Given the description of an element on the screen output the (x, y) to click on. 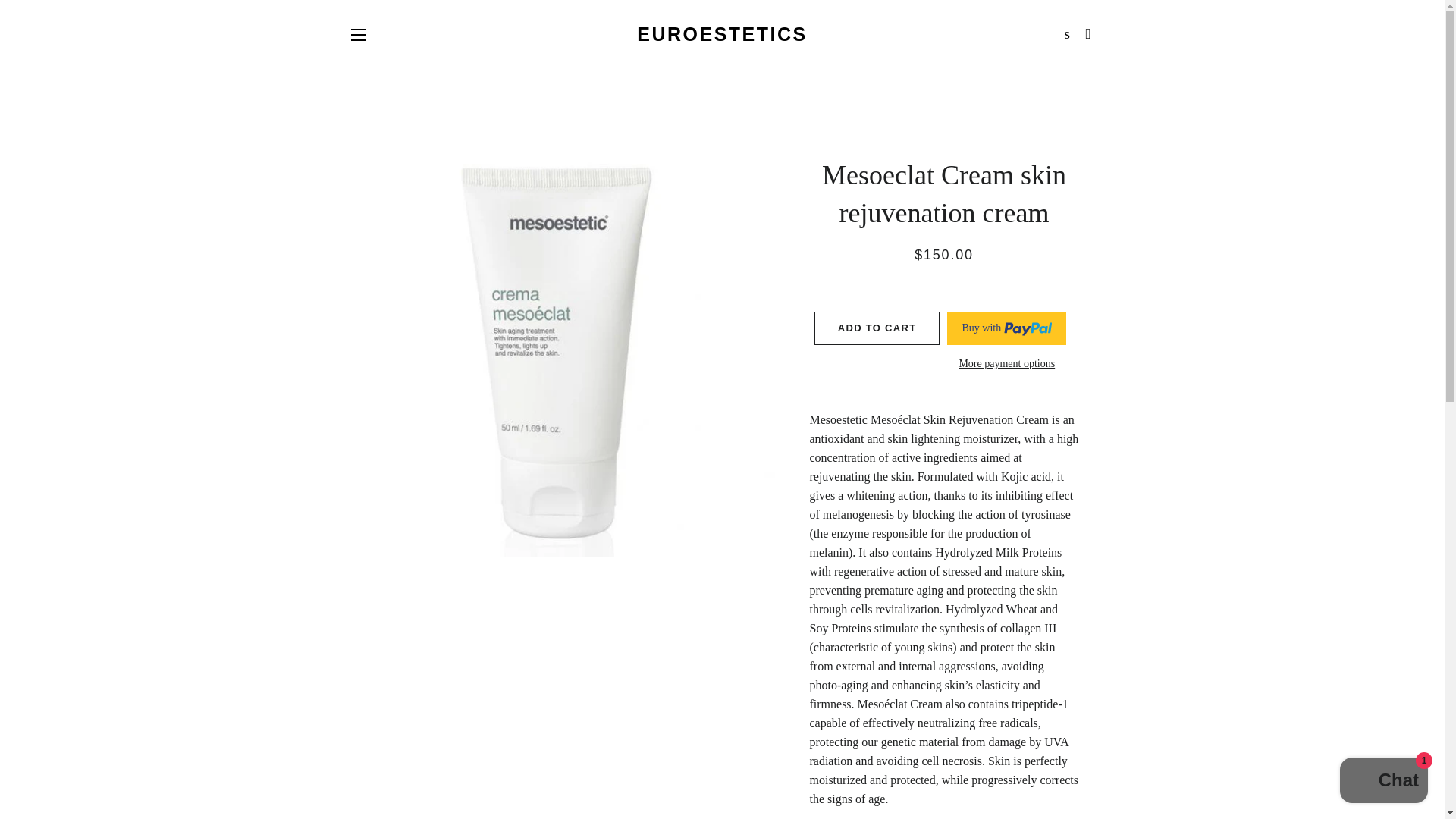
SITE NAVIGATION (358, 34)
More payment options (1006, 363)
Shopify online store chat (1383, 781)
ADD TO CART (876, 328)
EUROESTETICS (721, 34)
